Given the description of an element on the screen output the (x, y) to click on. 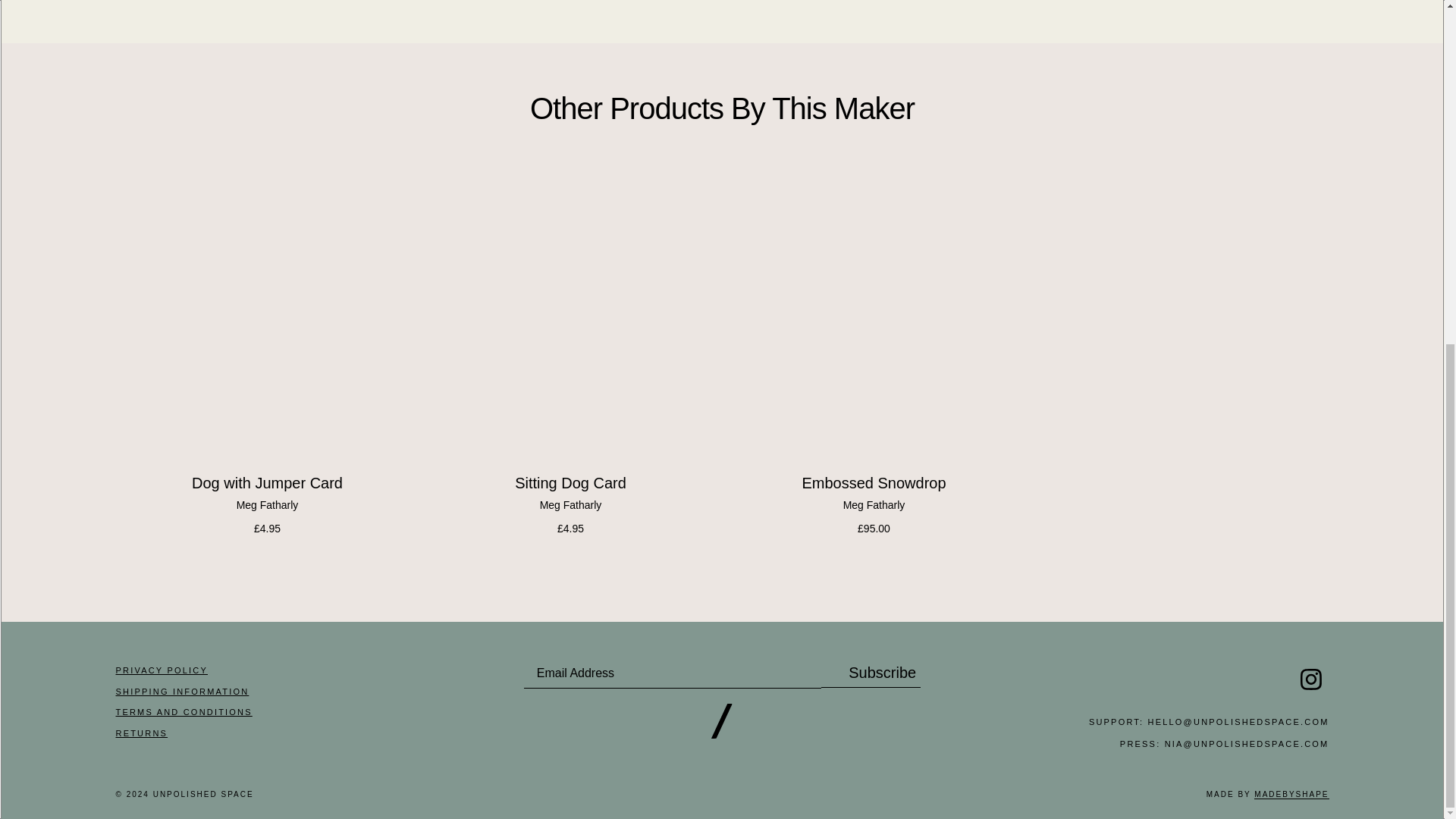
Embossed Snowdrop (873, 319)
Subscribe (870, 672)
Dog with Jumper Card (266, 319)
Sitting Dog Card (570, 319)
